Given the description of an element on the screen output the (x, y) to click on. 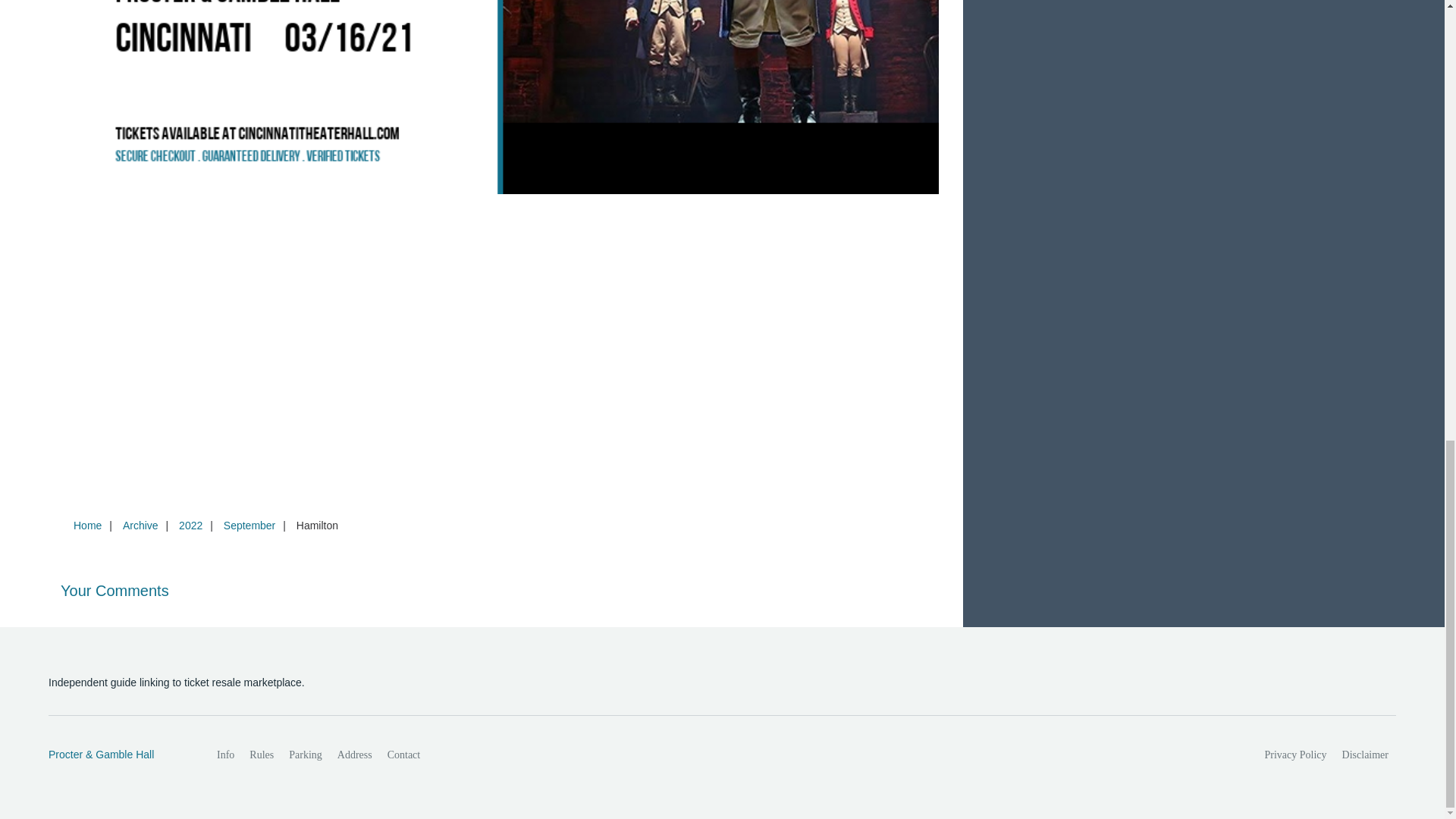
Archive (140, 525)
Rules (261, 755)
Disclaimer (1365, 755)
Contact (404, 755)
Info (225, 755)
Privacy Policy (1296, 755)
September (248, 525)
Parking (305, 755)
Address (355, 755)
Home (87, 525)
2022 (190, 525)
